Given the description of an element on the screen output the (x, y) to click on. 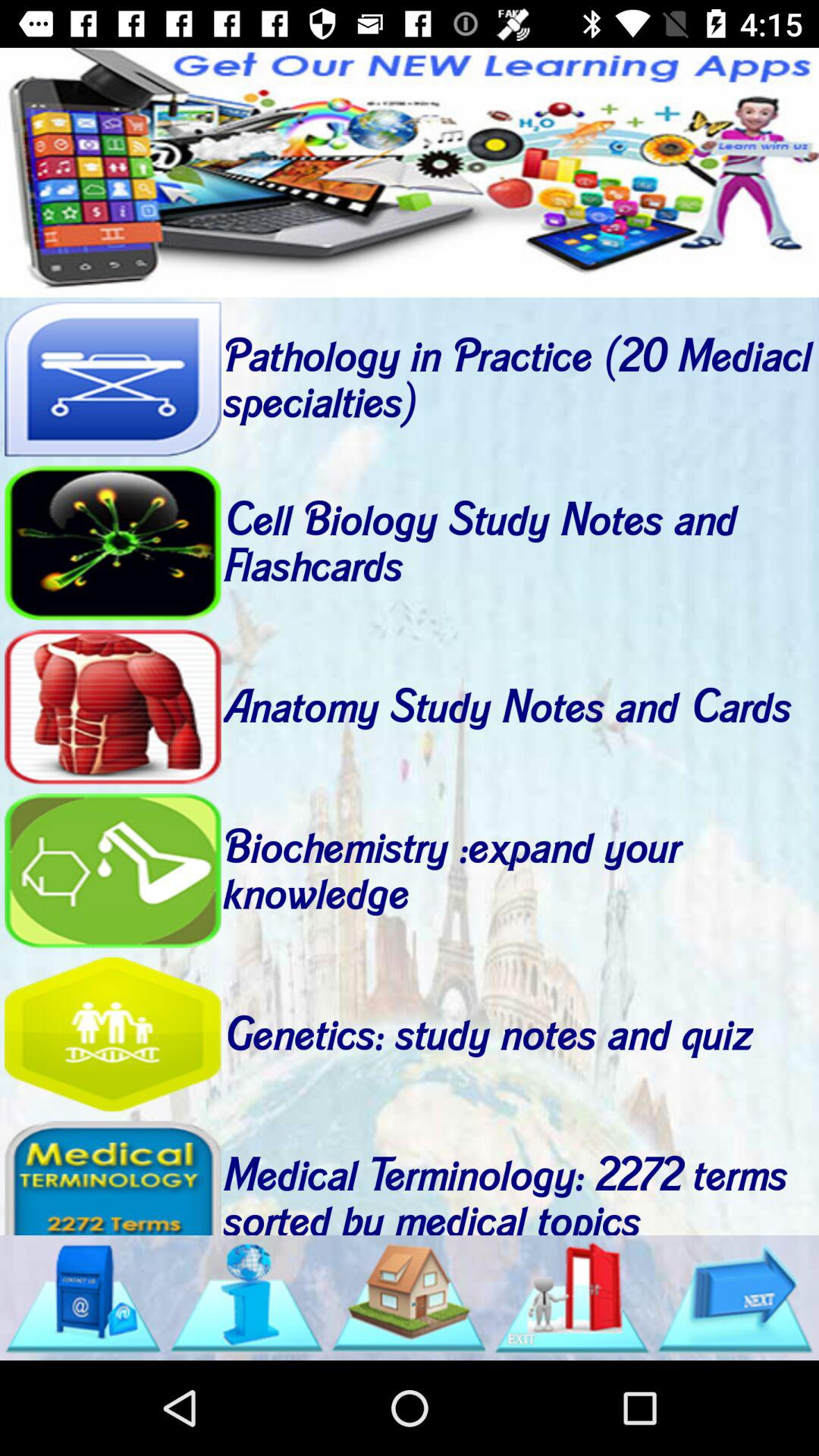
go to select option (112, 542)
